Given the description of an element on the screen output the (x, y) to click on. 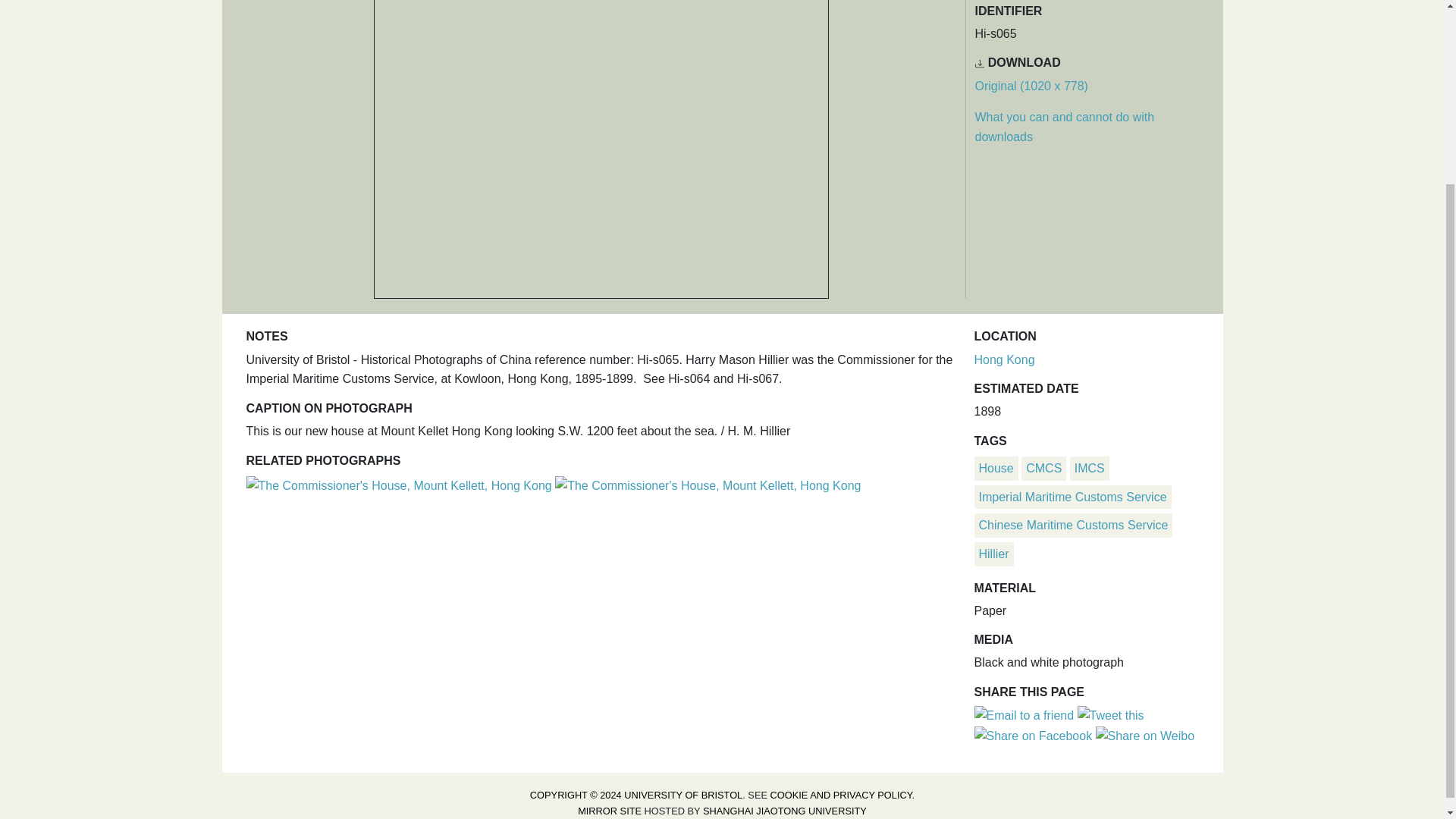
CMCS (1043, 468)
IMCS (1089, 468)
Chinese Maritime Customs Service (1072, 524)
Hong Kong (1003, 359)
Hillier (993, 553)
MIRROR SITE (610, 810)
What you can and cannot do with downloads (1064, 126)
House (995, 468)
Imperial Maritime Customs Service (1072, 496)
COOKIE AND PRIVACY POLICY (841, 794)
SHANGHAI JIAOTONG UNIVERSITY (784, 810)
